Given the description of an element on the screen output the (x, y) to click on. 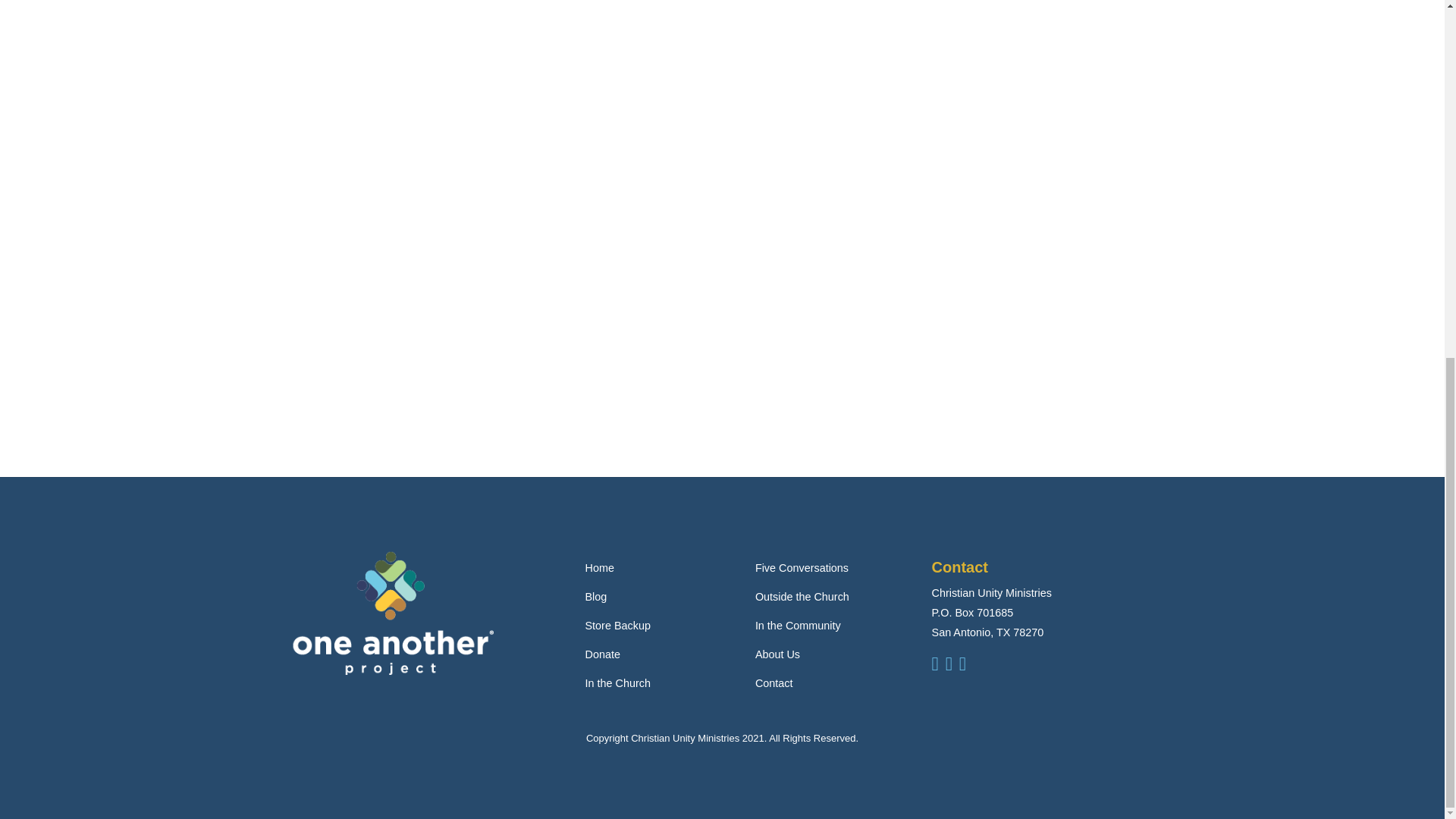
In the Church (617, 683)
Outside the Church (801, 596)
In the Community (798, 625)
Store Backup (617, 625)
Home (599, 567)
About Us (777, 654)
Blog (596, 596)
Five Conversations (801, 567)
Donate (602, 654)
Contact (774, 683)
